Given the description of an element on the screen output the (x, y) to click on. 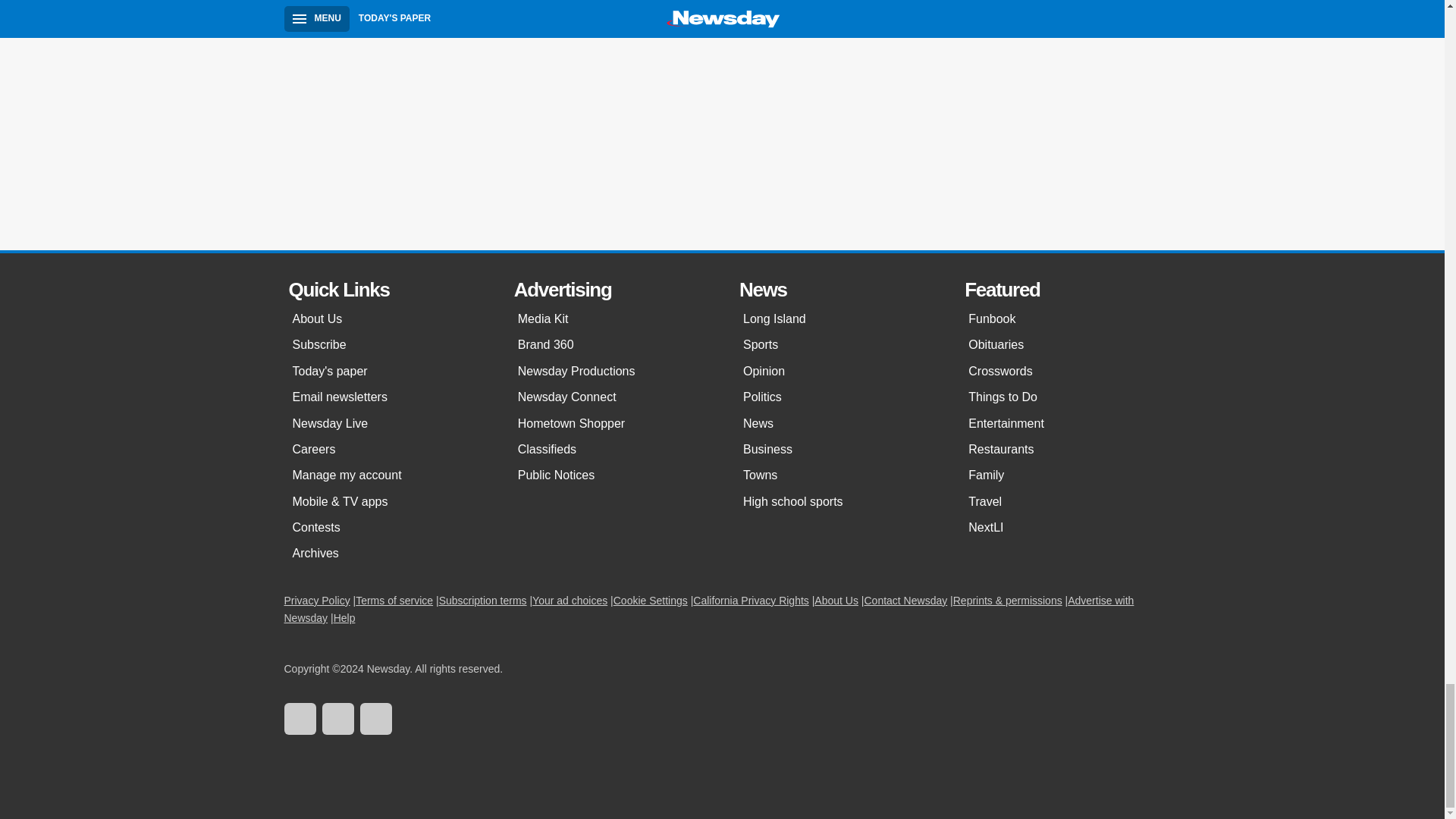
Today's paper (387, 371)
About Us (387, 319)
Email newsletters (387, 397)
Subscribe (387, 344)
